Given the description of an element on the screen output the (x, y) to click on. 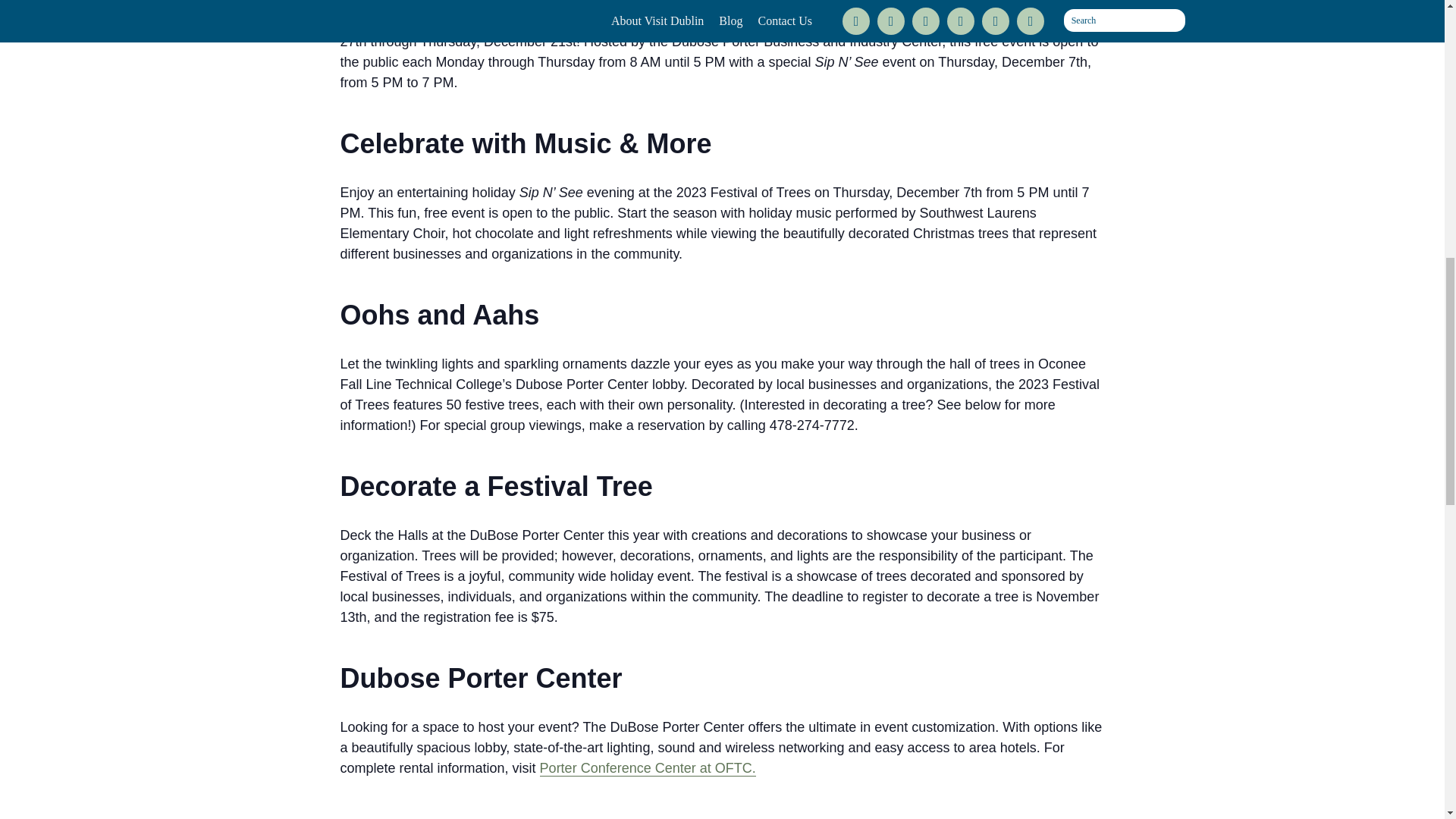
Oconee Fall Line Technical College (623, 21)
Porter Conference Center at OFTC. (647, 768)
